Given the description of an element on the screen output the (x, y) to click on. 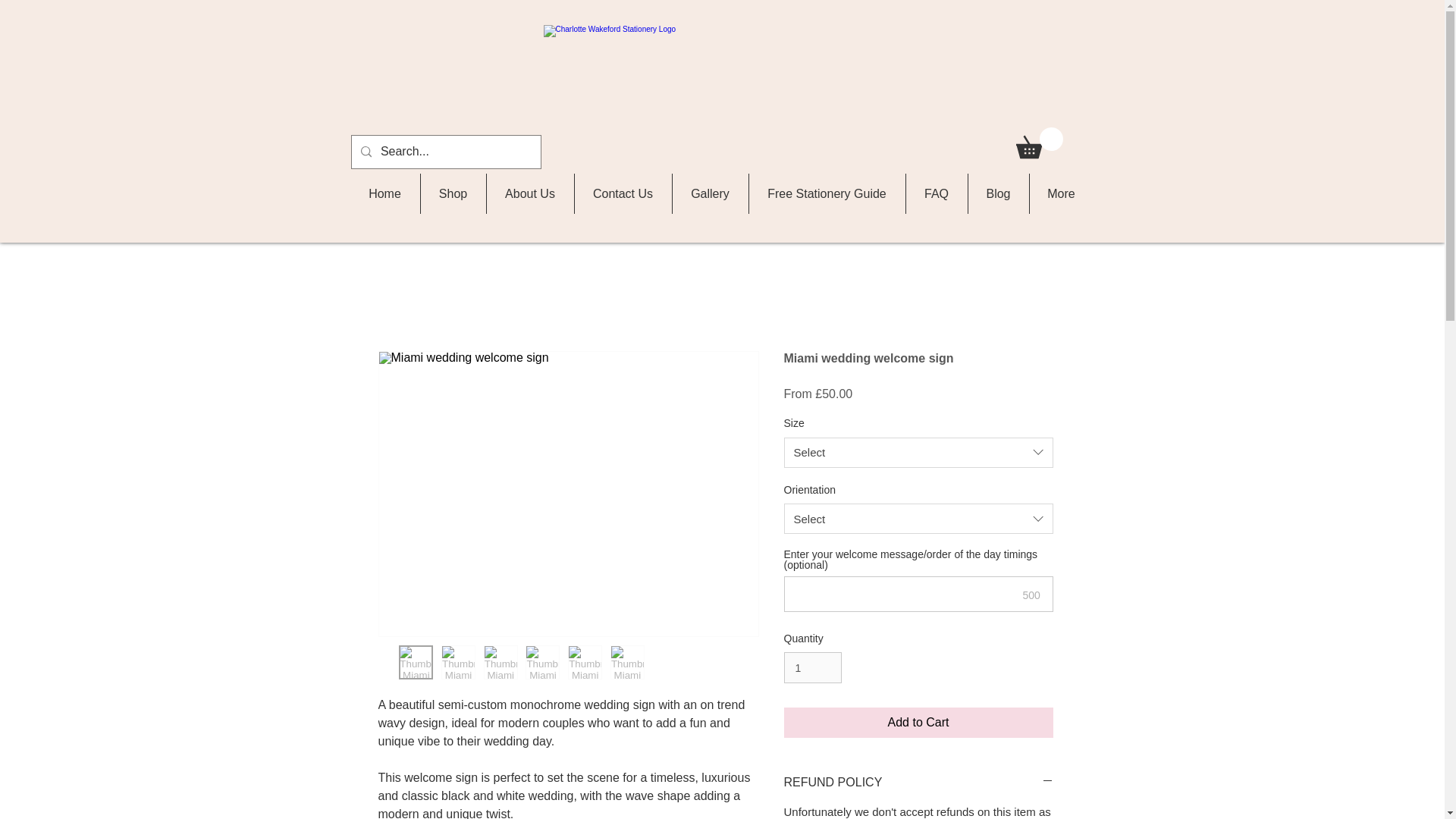
Blog (998, 193)
FAQ (936, 193)
About Us (528, 193)
Contact Us (622, 193)
Free Stationery Guide (826, 193)
Gallery (709, 193)
REFUND POLICY (918, 782)
1 (812, 667)
Select (918, 452)
Select (918, 518)
